Given the description of an element on the screen output the (x, y) to click on. 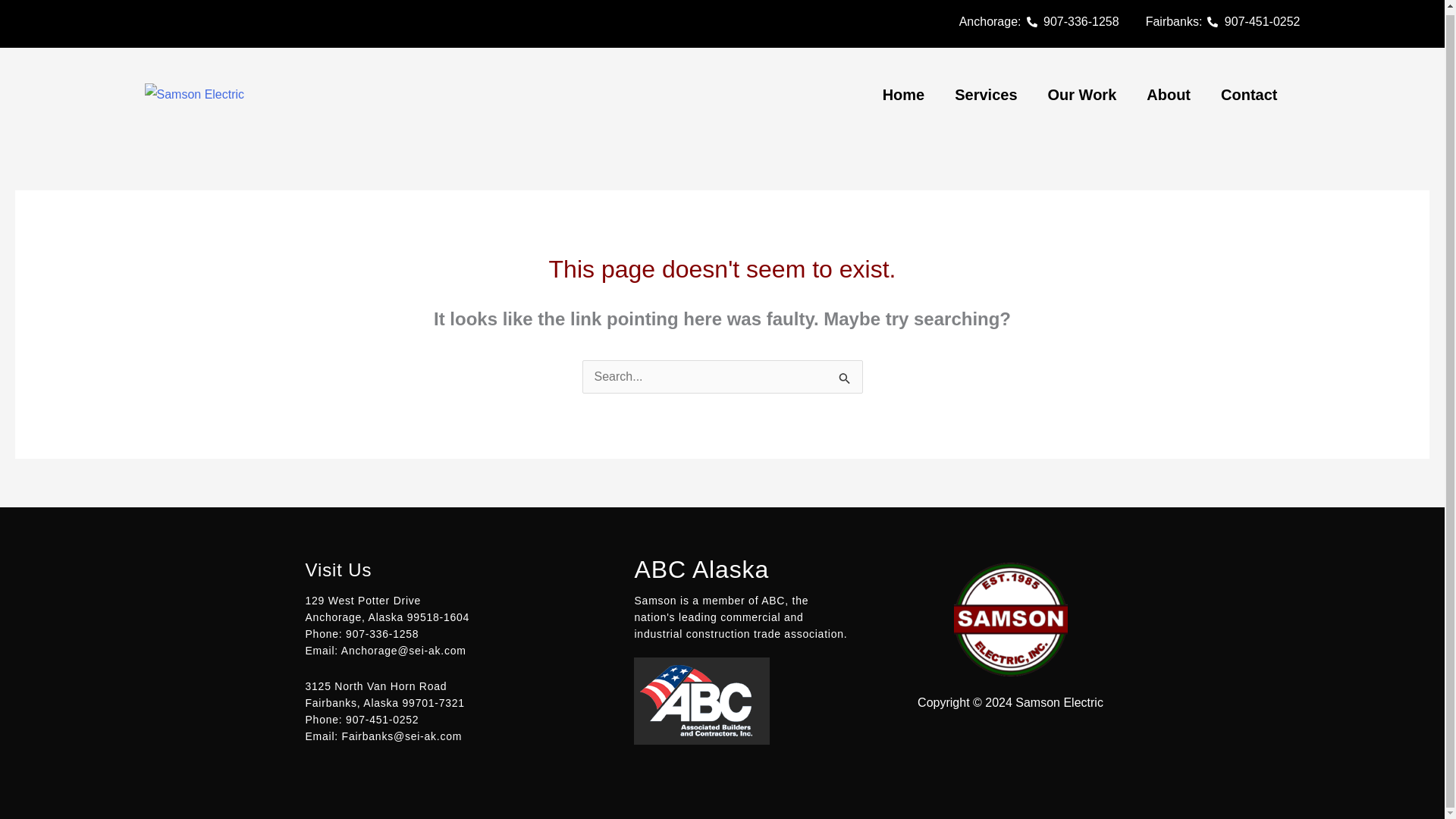
907-451-0252 (1253, 21)
About (1168, 94)
Services (985, 94)
907-336-1258 (1072, 21)
Home (903, 94)
Our Work (1082, 94)
Contact (1248, 94)
cropped-samson-logo.png (194, 94)
